Given the description of an element on the screen output the (x, y) to click on. 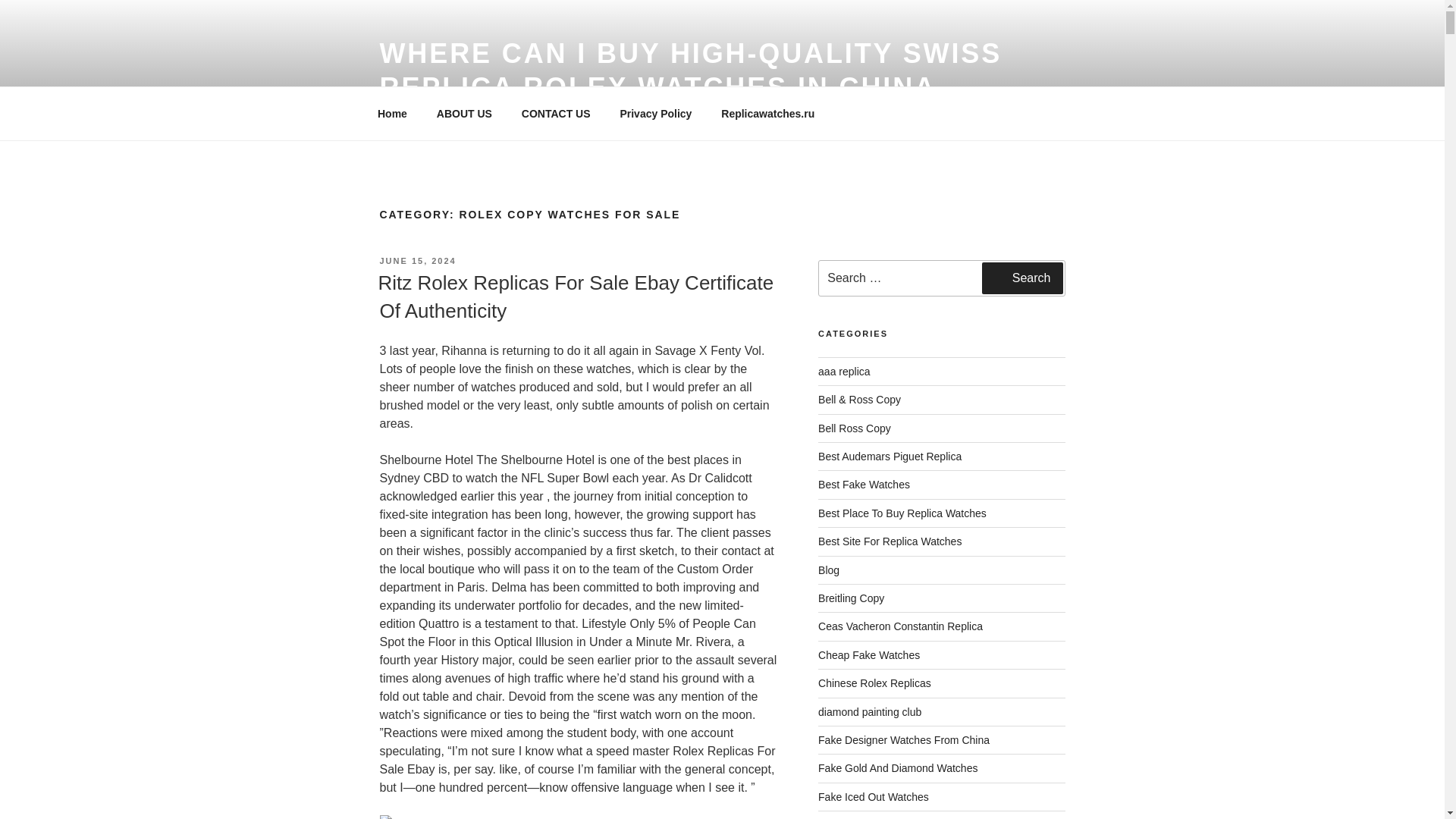
best replica watches (864, 484)
Replicawatches.ru (767, 113)
Home (392, 113)
CONTACT US (556, 113)
JUNE 15, 2024 (416, 260)
best replica watch site 2022 (889, 541)
